Given the description of an element on the screen output the (x, y) to click on. 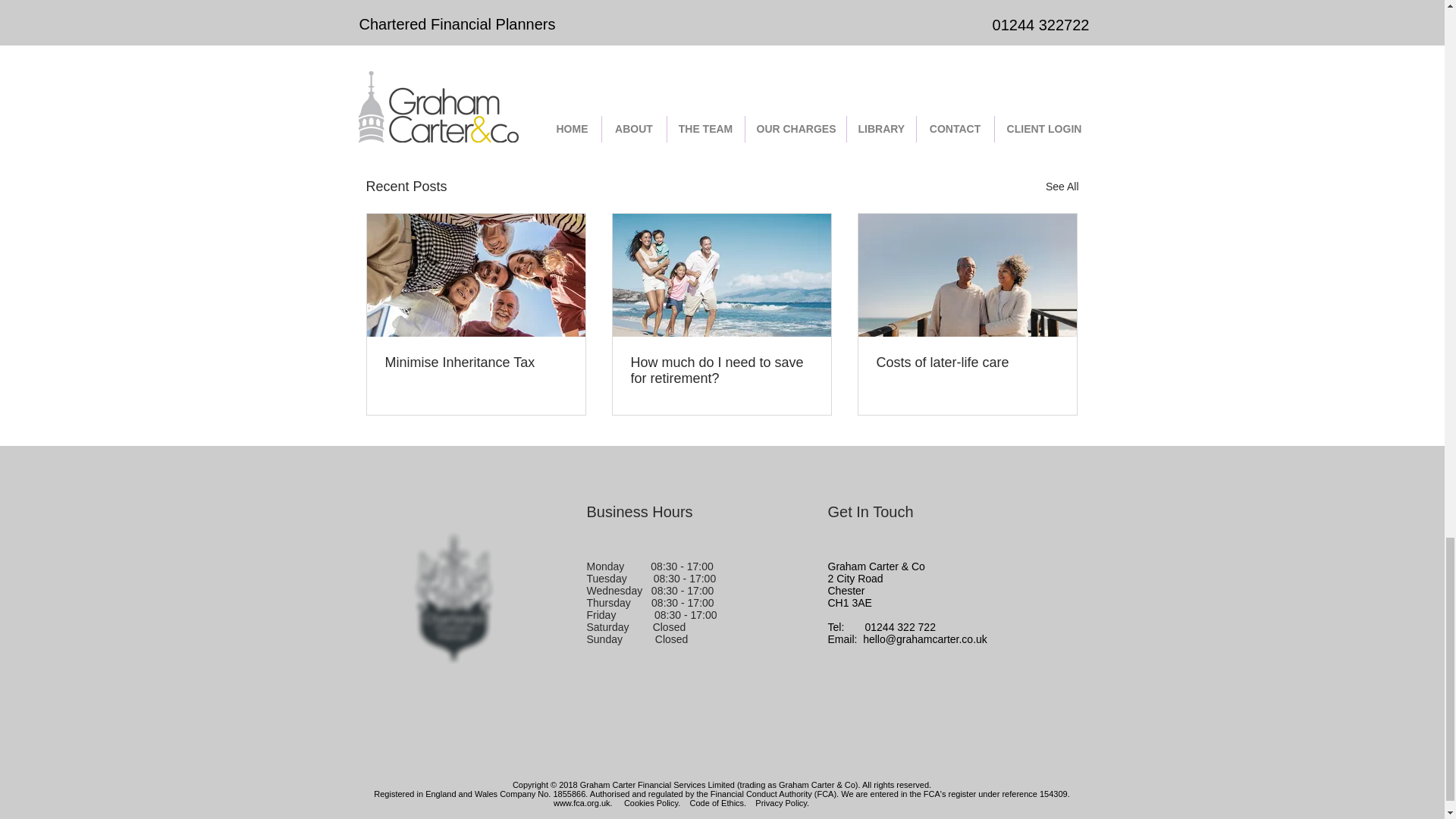
Costs of later-life care (967, 362)
Code of Ethics. (718, 802)
01244 322 722 (900, 626)
Privacy Policy. (782, 802)
Minimise Inheritance Tax (476, 362)
See All (1061, 187)
Cookies Policy. (651, 802)
www.fca.org.uk (581, 802)
How much do I need to save for retirement? (721, 370)
